Given the description of an element on the screen output the (x, y) to click on. 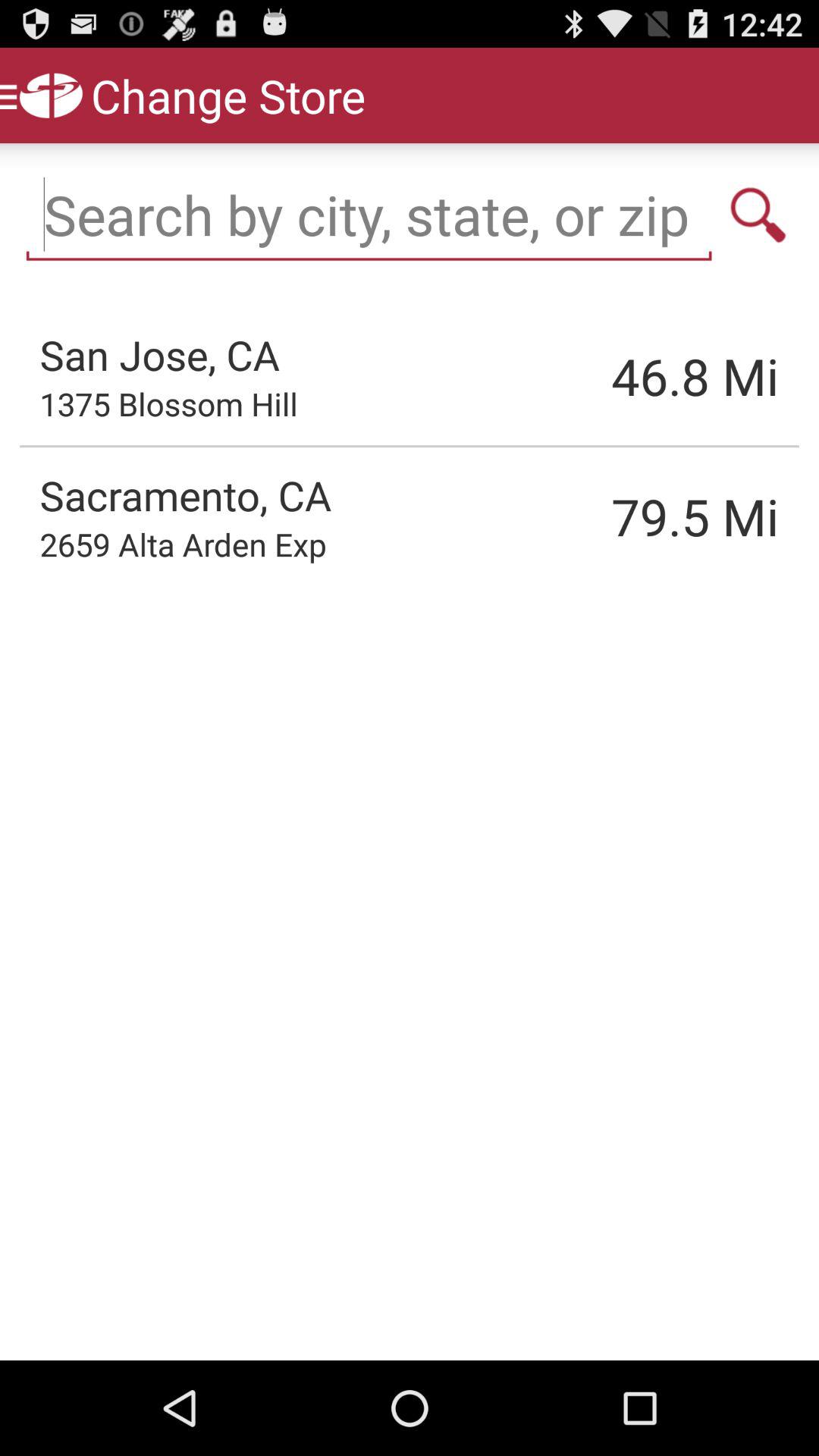
launch app next to 79.5 item (182, 543)
